Given the description of an element on the screen output the (x, y) to click on. 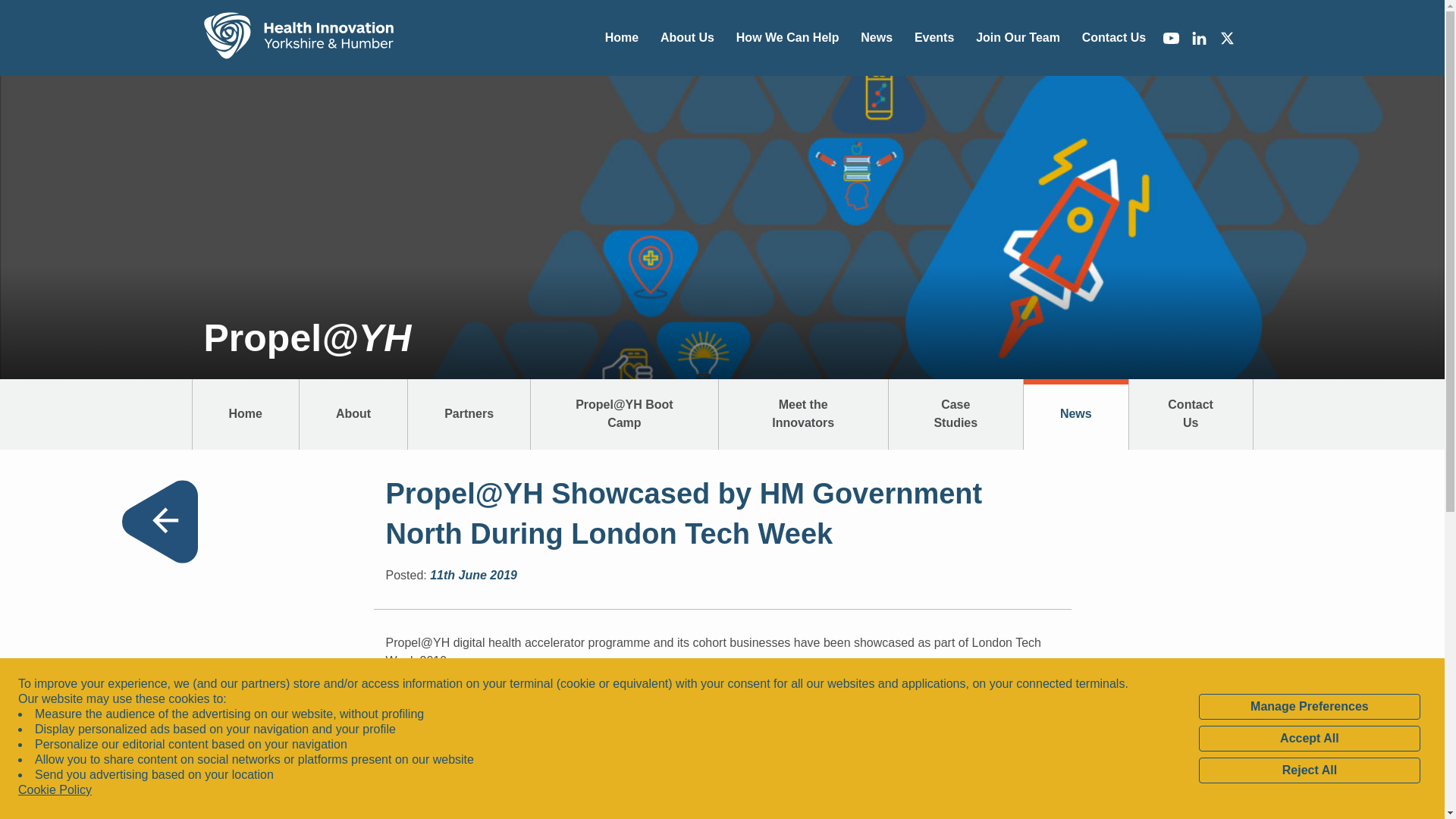
Events (932, 37)
Join Our Team (1018, 37)
Home (298, 38)
Accept All (1309, 738)
News (877, 37)
Reject All (1309, 769)
Manage Preferences (1309, 706)
Back to list page (158, 521)
About Us (687, 37)
Home (621, 37)
Cookie Policy (54, 789)
How We Can Help (787, 37)
